Given the description of an element on the screen output the (x, y) to click on. 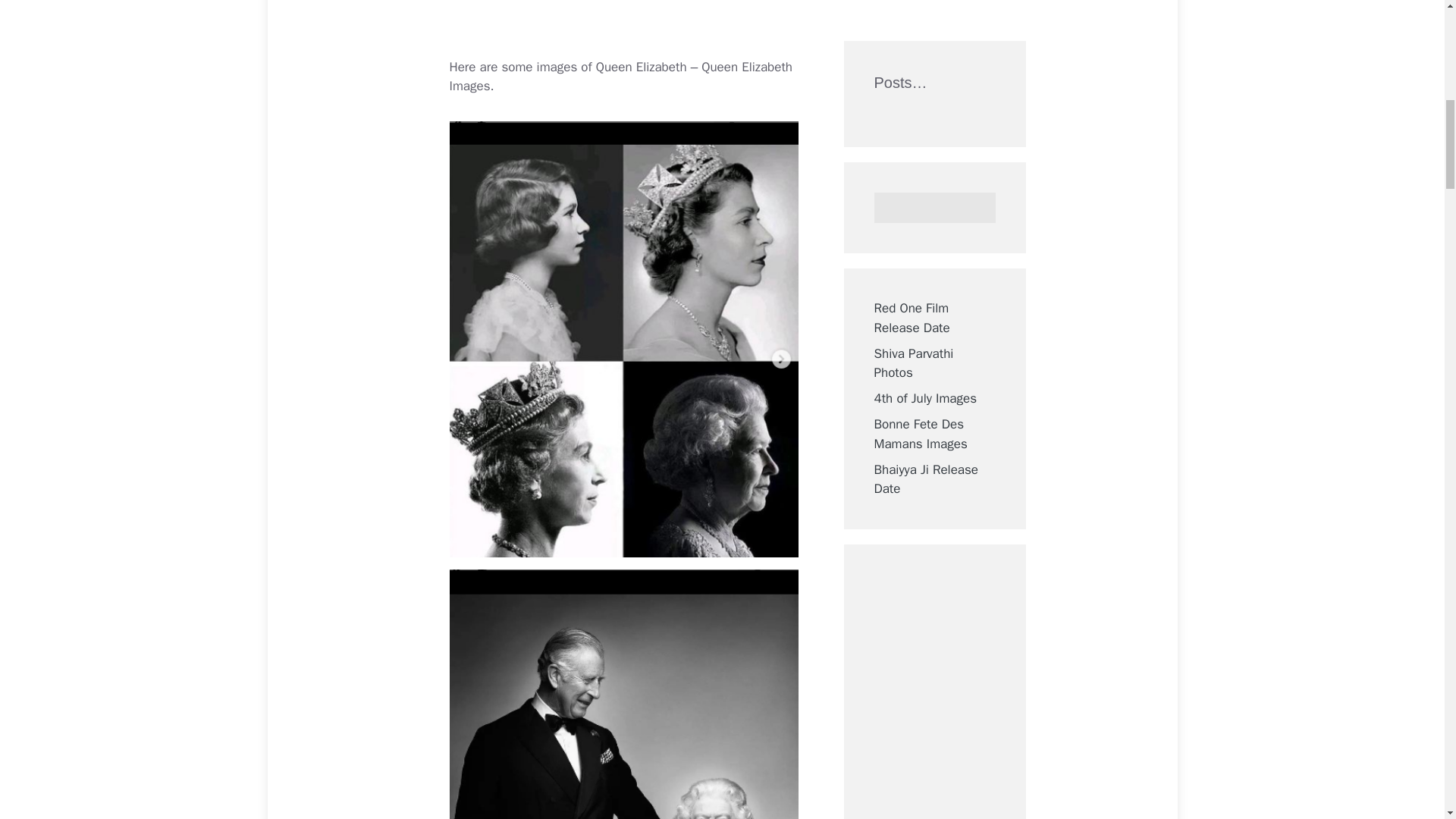
Bonne Fete Des Mamans Images (919, 1)
Advertisement (630, 25)
Queen Elizabeth Images 2 (622, 694)
Bhaiyya Ji Release Date (925, 30)
